Given the description of an element on the screen output the (x, y) to click on. 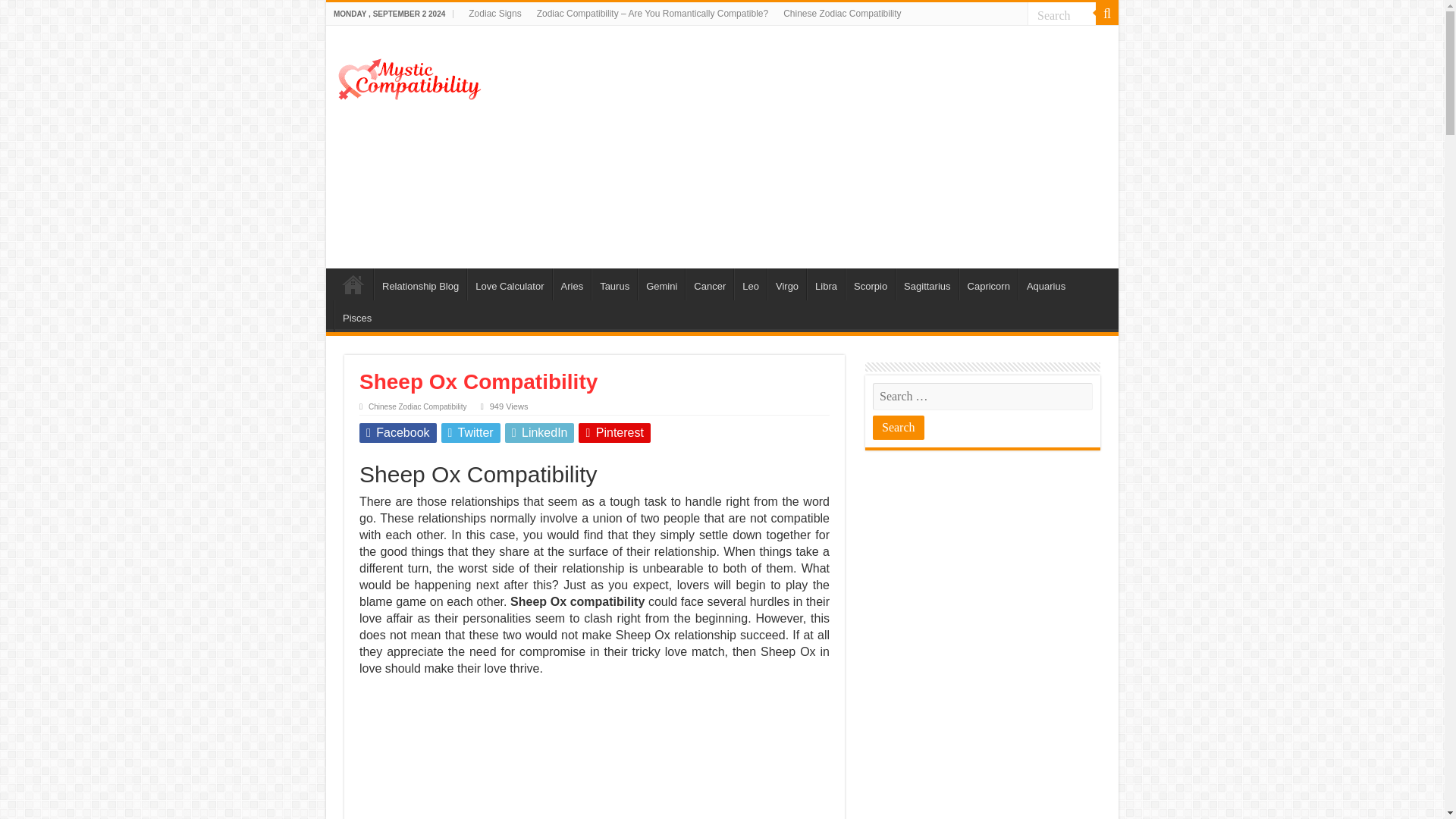
Compatibility Home (352, 284)
Chinese Zodiac Compatibility (842, 13)
Search (898, 427)
Search (1061, 15)
Gemini (660, 284)
Scorpio Compatibility (870, 284)
Aquarius (1045, 284)
Virgo (786, 284)
Libra (825, 284)
Zodiac Signs Dates, Meanings And Compatibility (494, 13)
